Given the description of an element on the screen output the (x, y) to click on. 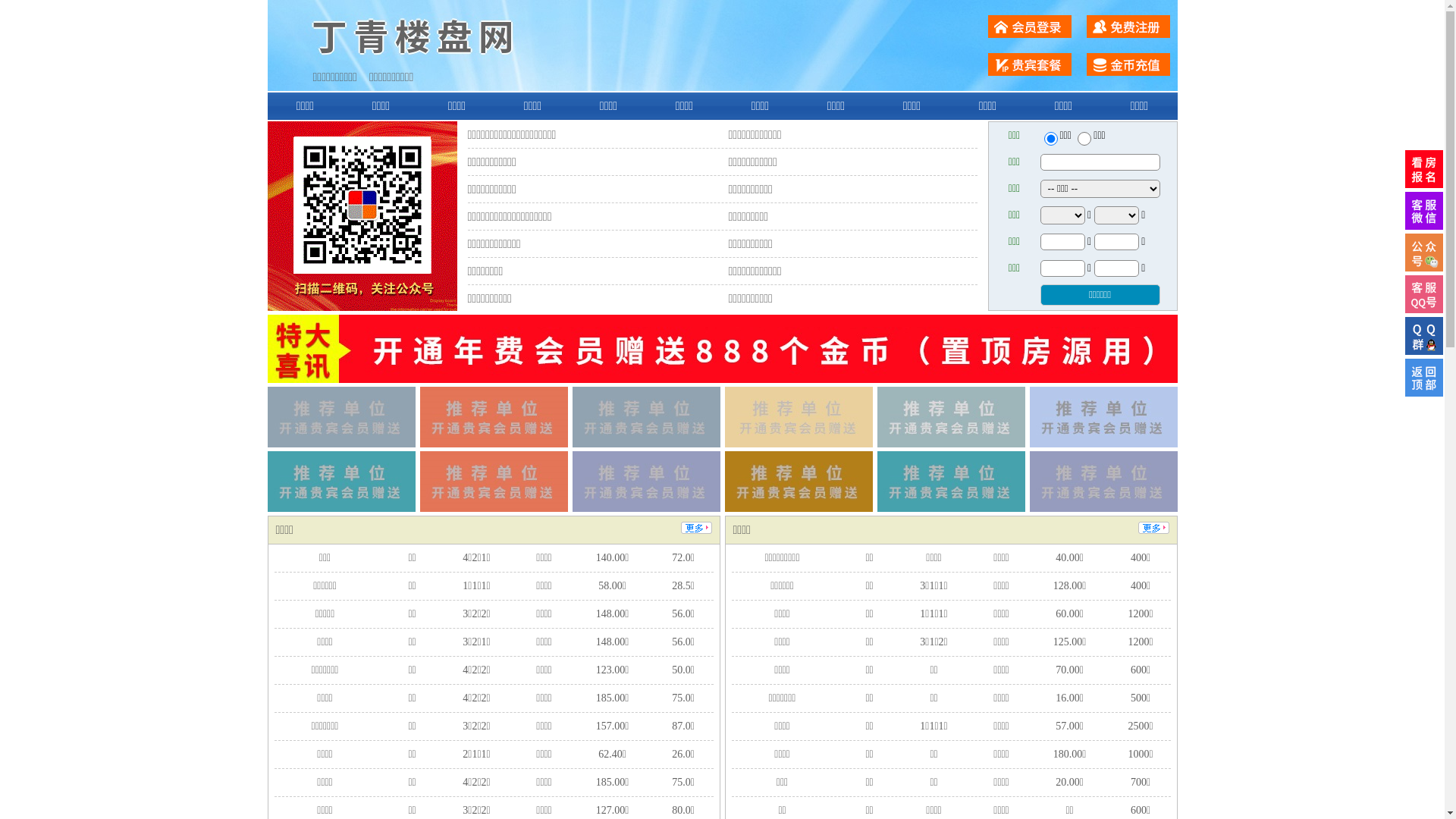
chuzu Element type: text (1084, 138)
ershou Element type: text (1050, 138)
